Given the description of an element on the screen output the (x, y) to click on. 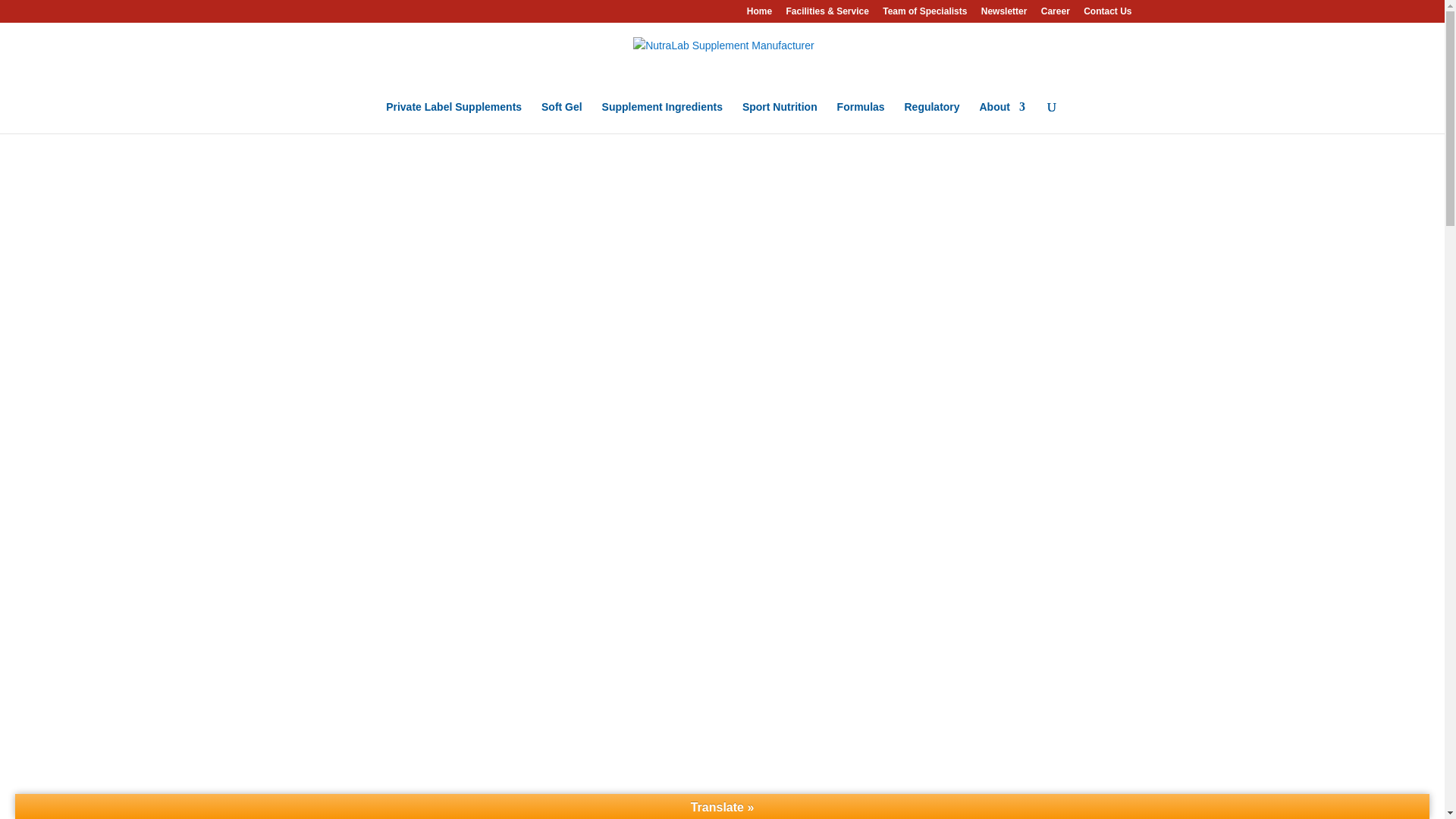
Supplement Ingredients (662, 117)
Home (758, 14)
Private Label Supplements (453, 117)
Team of Specialists (924, 14)
Formulas (861, 117)
Soft Gel (561, 117)
Career (1055, 14)
About (1002, 117)
Sport Nutrition (779, 117)
Regulatory (931, 117)
